Given the description of an element on the screen output the (x, y) to click on. 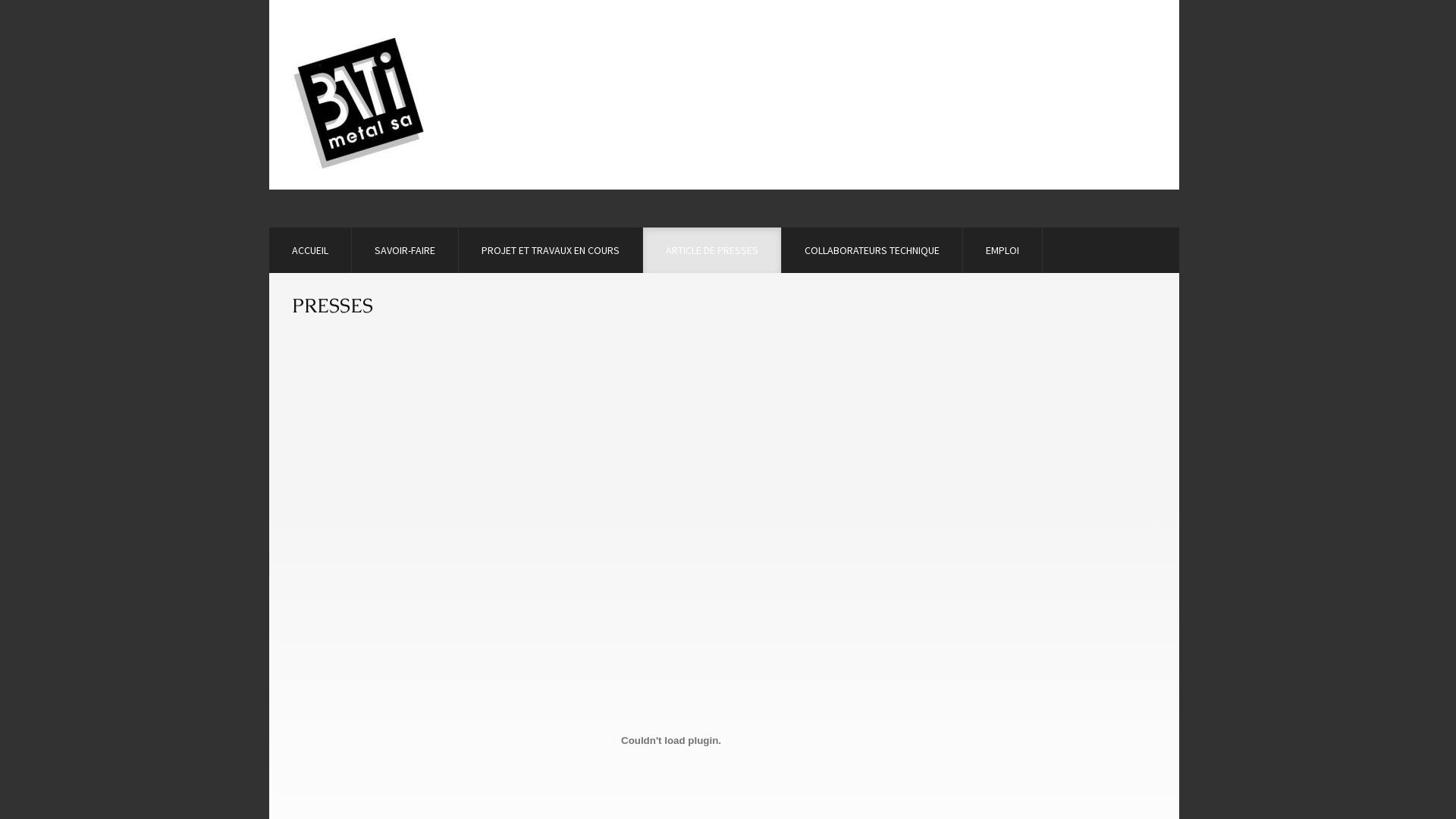
COLLABORATEURS TECHNIQUE Element type: text (871, 250)
ACCUEIL Element type: text (310, 250)
SAVOIR-FAIRE Element type: text (404, 250)
ARTICLE DE PRESSES Element type: text (712, 250)
PROJET ET TRAVAUX EN COURS Element type: text (550, 250)
EMPLOI Element type: text (1002, 250)
